Given the description of an element on the screen output the (x, y) to click on. 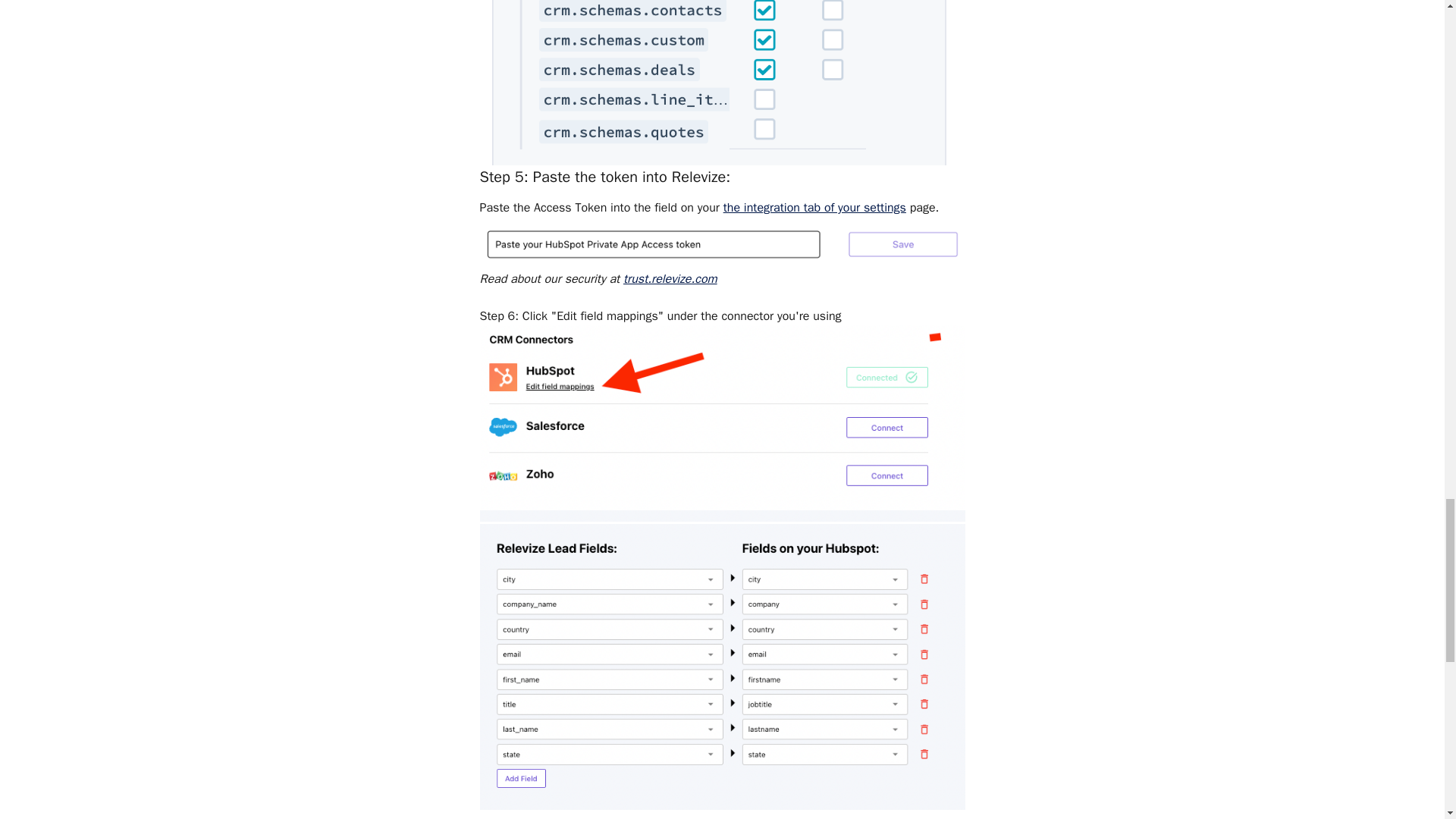
trust.relevize.com (670, 278)
the integration tab of your settings (814, 207)
